Given the description of an element on the screen output the (x, y) to click on. 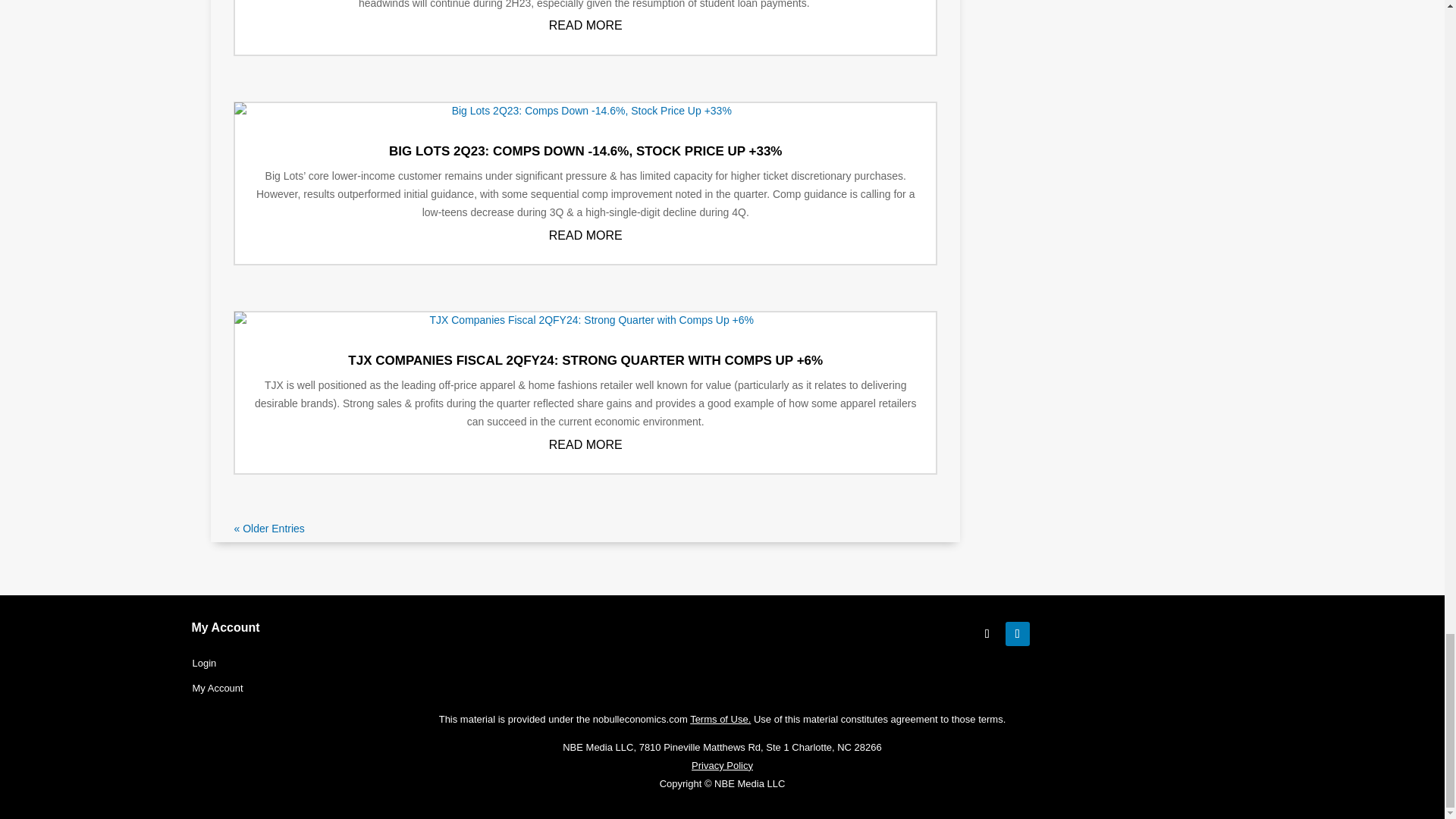
READ MORE (585, 24)
Follow on X (986, 633)
READ MORE (585, 235)
Follow on LinkedIn (1017, 633)
READ MORE (585, 444)
